Given the description of an element on the screen output the (x, y) to click on. 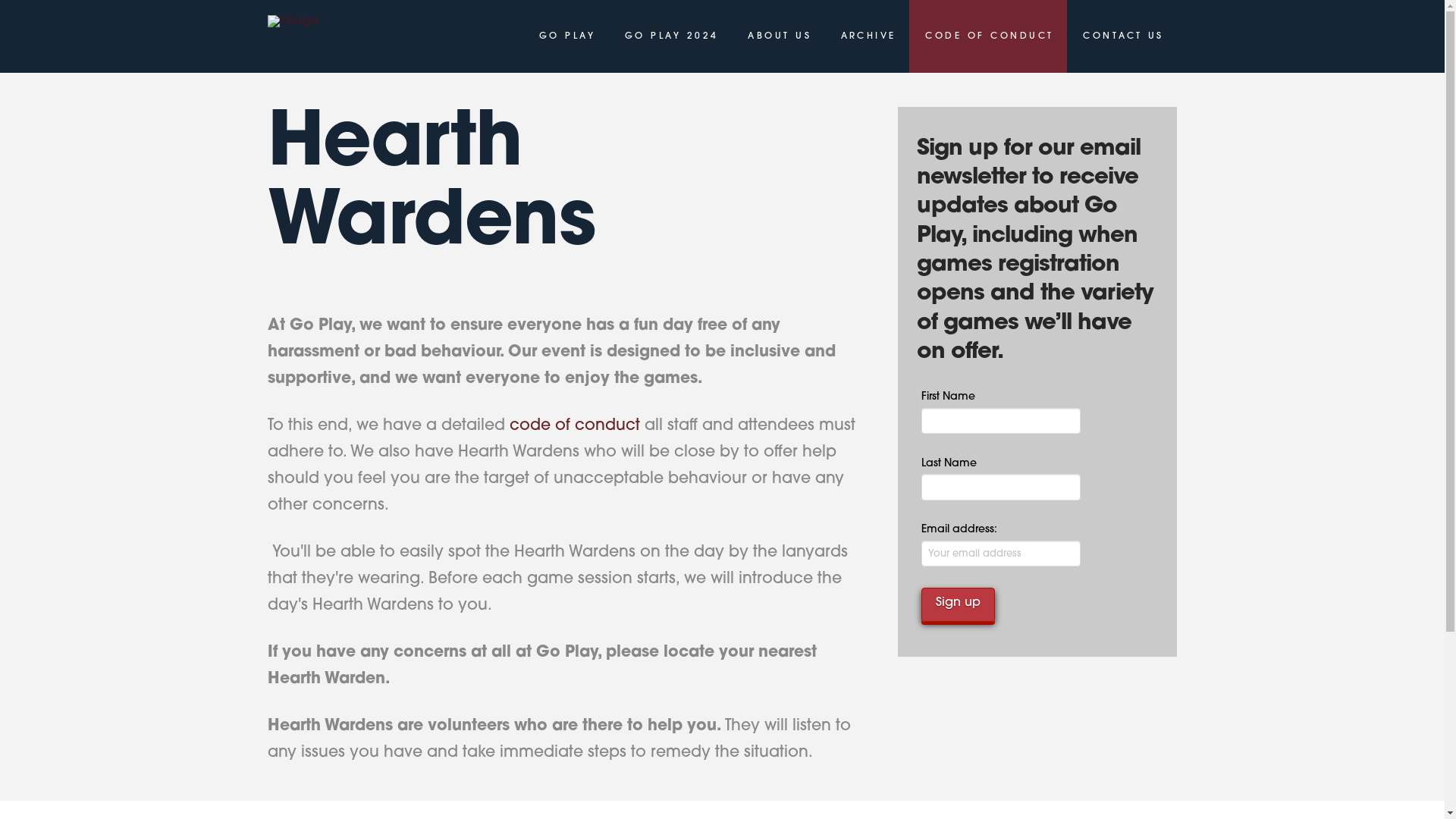
code of conduct Element type: text (574, 425)
ABOUT US Element type: text (777, 36)
CONTACT US Element type: text (1121, 36)
GO PLAY 2024 Element type: text (669, 36)
CODE OF CONDUCT Element type: text (987, 36)
Sign up Element type: text (957, 604)
ARCHIVE Element type: text (867, 36)
GO PLAY Element type: text (565, 36)
